Given the description of an element on the screen output the (x, y) to click on. 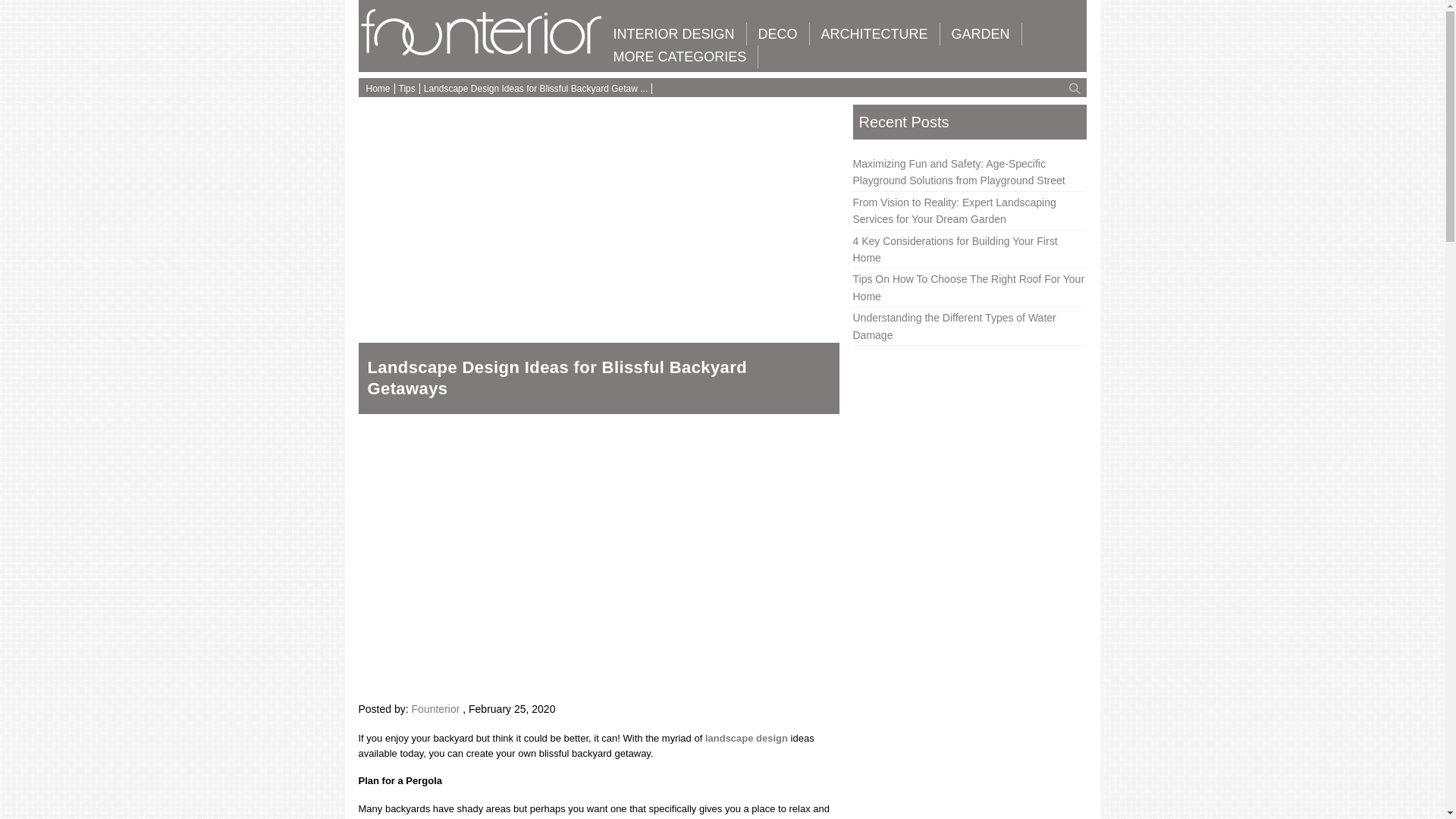
GARDEN (981, 33)
INTERIOR DESIGN (673, 33)
Architecture (874, 33)
DECO (777, 33)
ARCHITECTURE (874, 33)
Founterior (481, 51)
MORE CATEGORIES (680, 56)
Decoration (777, 33)
Interior Design (673, 33)
Advertisement (598, 213)
